Given the description of an element on the screen output the (x, y) to click on. 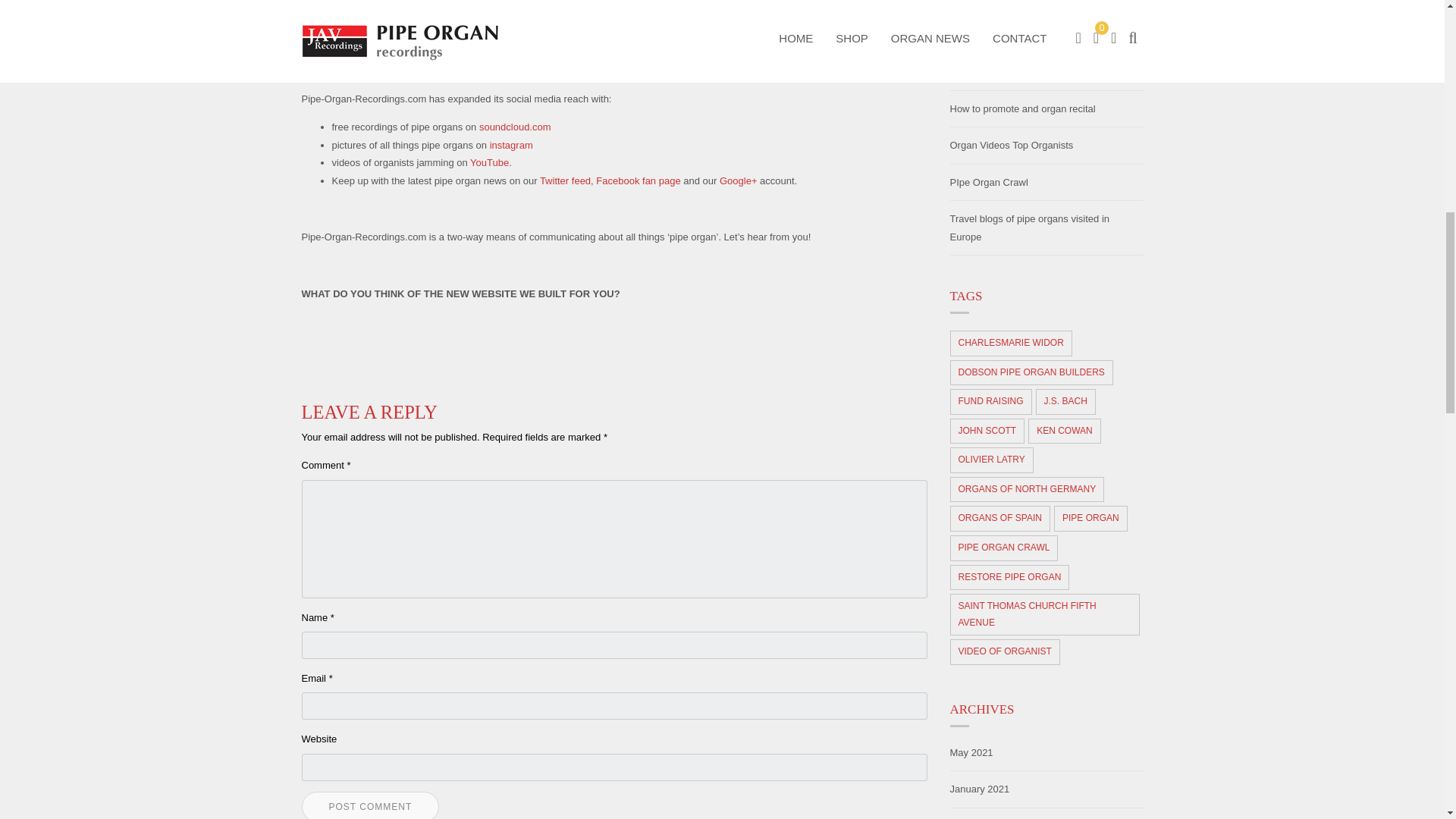
24-bit 88.20 kHz Stereo (510, 41)
soundcloud.com (515, 126)
photos of pipe organs (510, 144)
Facebook Page all about the pipe organ (637, 180)
free recordings of pipe organs (515, 126)
best record of pipe organ in notre dame cathedral paris (510, 41)
Post Comment (370, 805)
24-bit 96.00 kHz Multichannel 5.1 surround sound (764, 41)
twitter feed about pipe organs (565, 180)
